Given the description of an element on the screen output the (x, y) to click on. 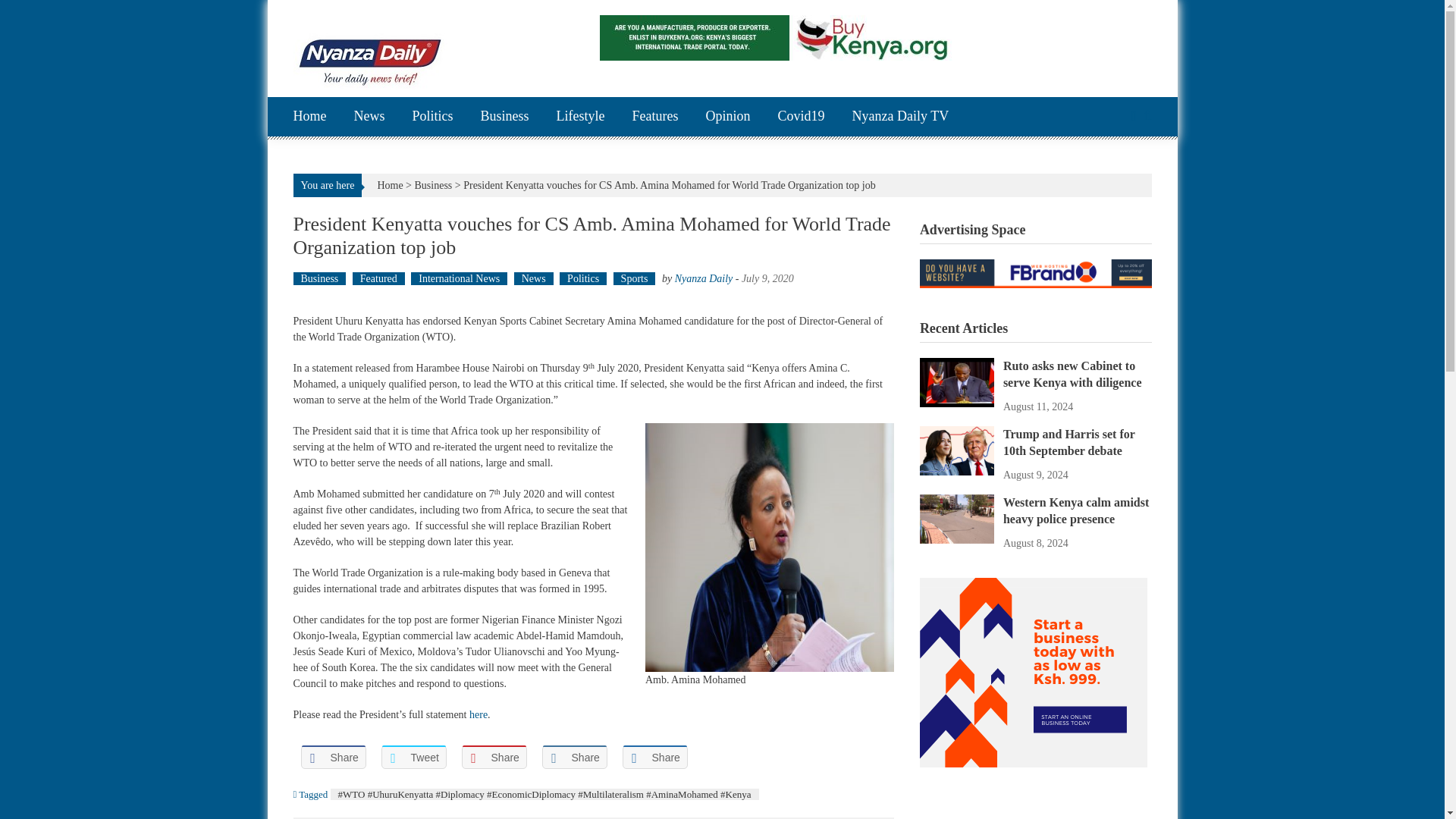
Featured (378, 278)
Politics (432, 116)
Share (332, 757)
Share on Pinterest (493, 757)
Share on Facebook (332, 757)
International News (458, 278)
Nyanza Daily (704, 278)
here (477, 714)
Business (504, 116)
Lifestyle (580, 116)
